Given the description of an element on the screen output the (x, y) to click on. 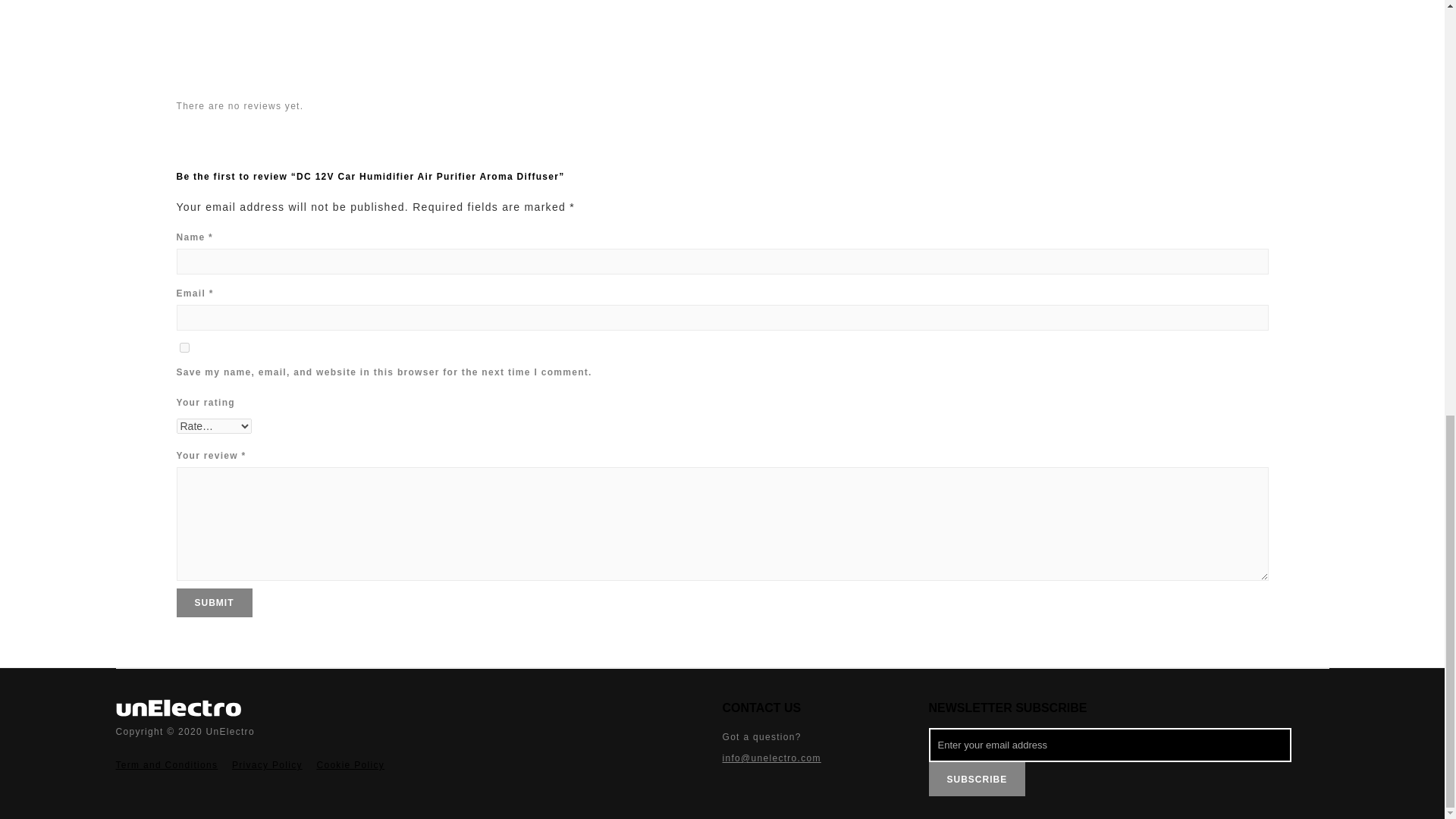
Privacy Policy (267, 765)
Term and Conditions (168, 765)
Submit (213, 602)
Subscribe (976, 779)
Subscribe (976, 779)
Submit (213, 602)
Cookie Policy (350, 765)
yes (184, 347)
